Given the description of an element on the screen output the (x, y) to click on. 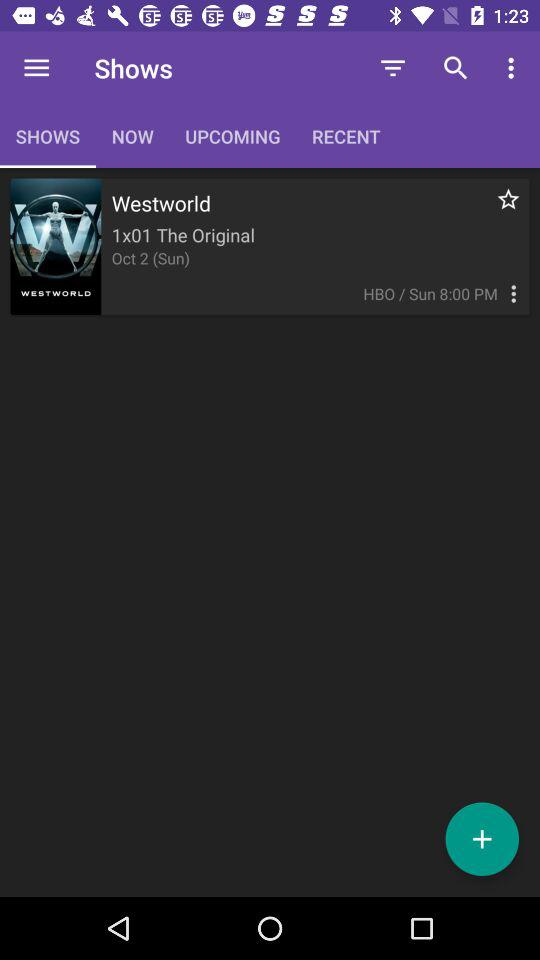
turn off the icon to the right of the upcoming icon (392, 67)
